Given the description of an element on the screen output the (x, y) to click on. 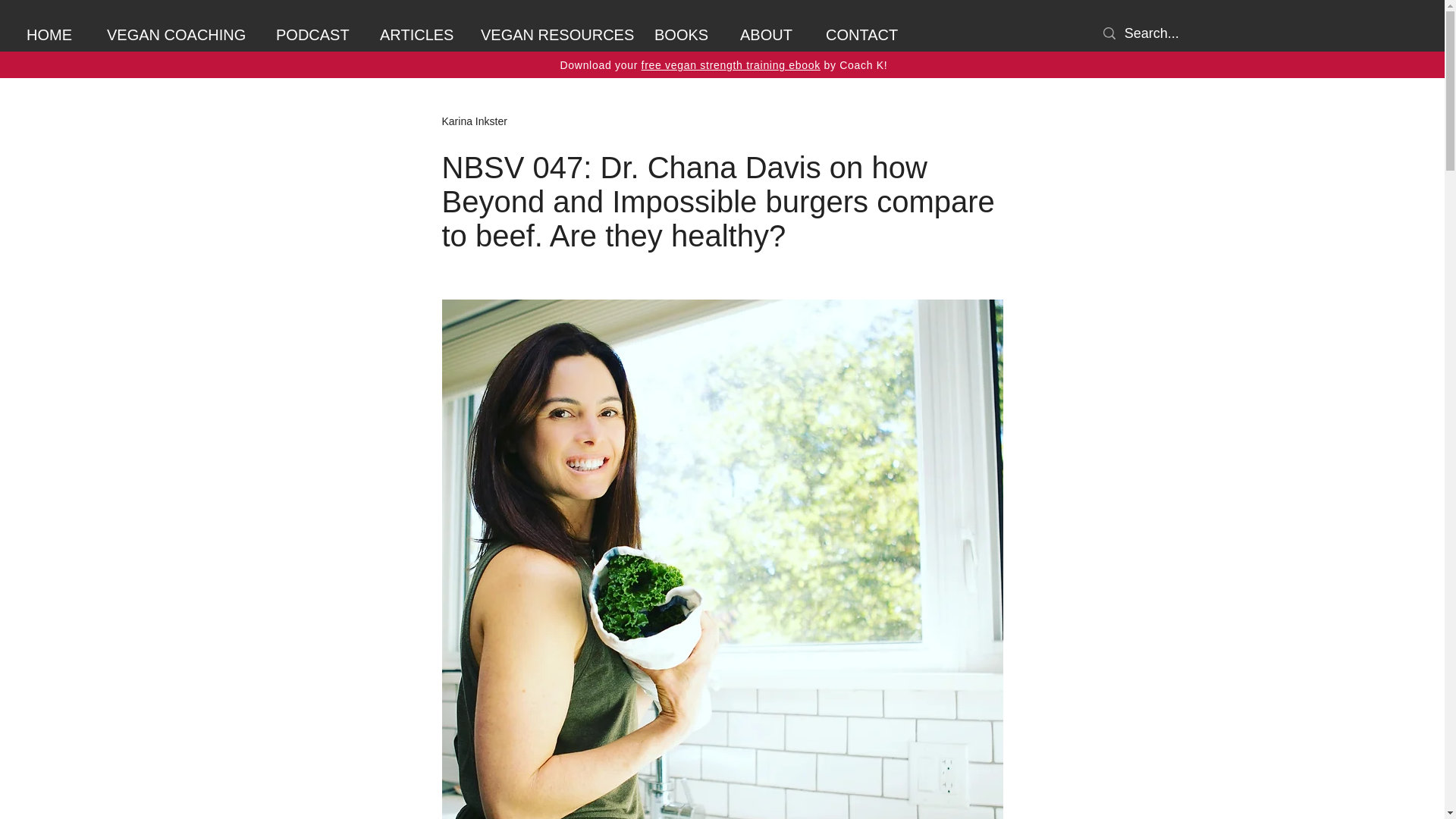
CONTACT (865, 34)
Karina Inkster (473, 121)
VEGAN RESOURCES (555, 34)
ARTICLES (418, 34)
HOME (55, 34)
Karina Inkster (473, 121)
PODCAST (316, 34)
BOOKS (686, 34)
